Given the description of an element on the screen output the (x, y) to click on. 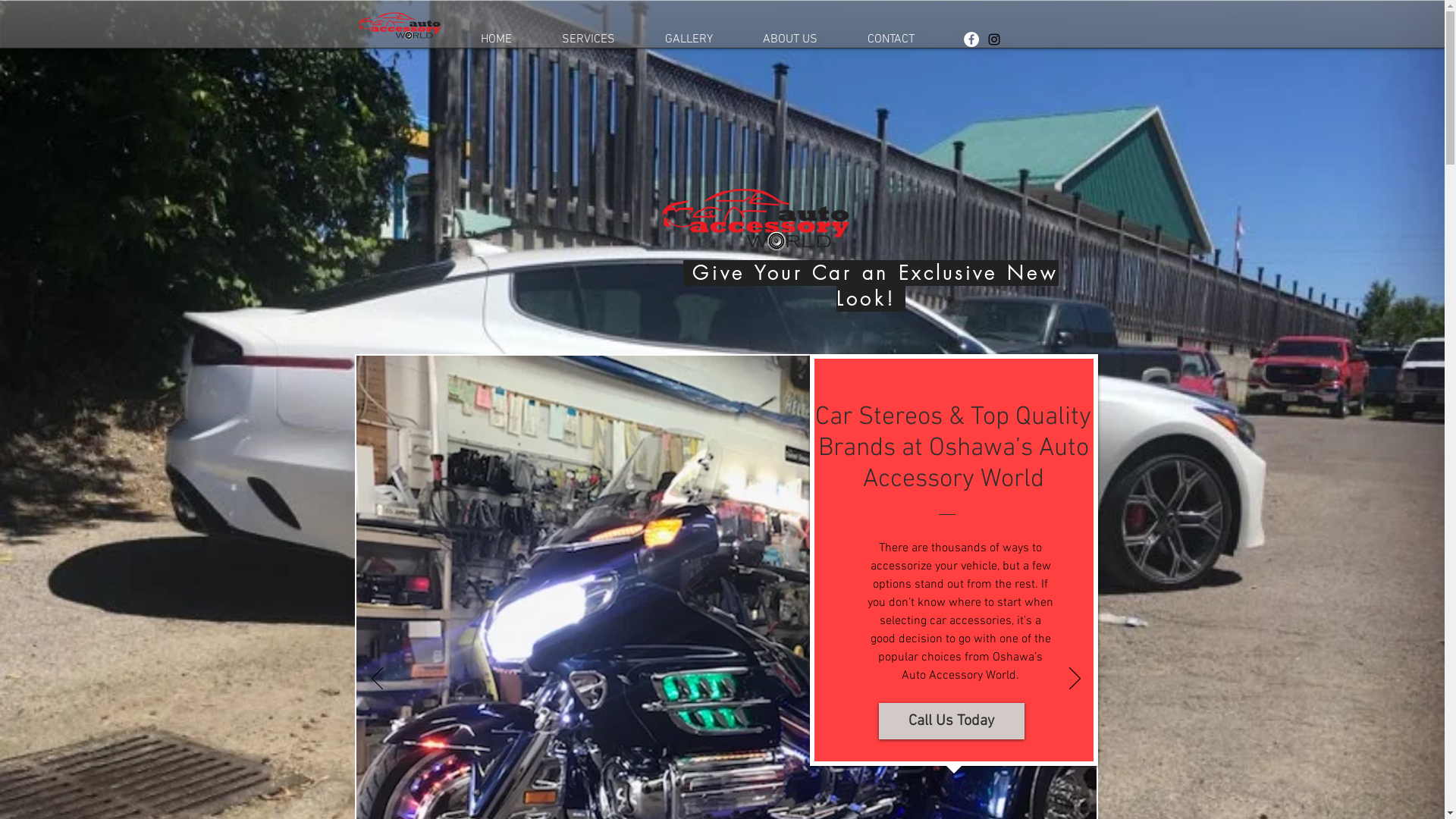
CONTACT Element type: text (889, 39)
ABOUT US Element type: text (789, 39)
HOME Element type: text (495, 39)
GALLERY Element type: text (688, 39)
SERVICES Element type: text (588, 39)
Call Us Today Element type: text (950, 720)
